Given the description of an element on the screen output the (x, y) to click on. 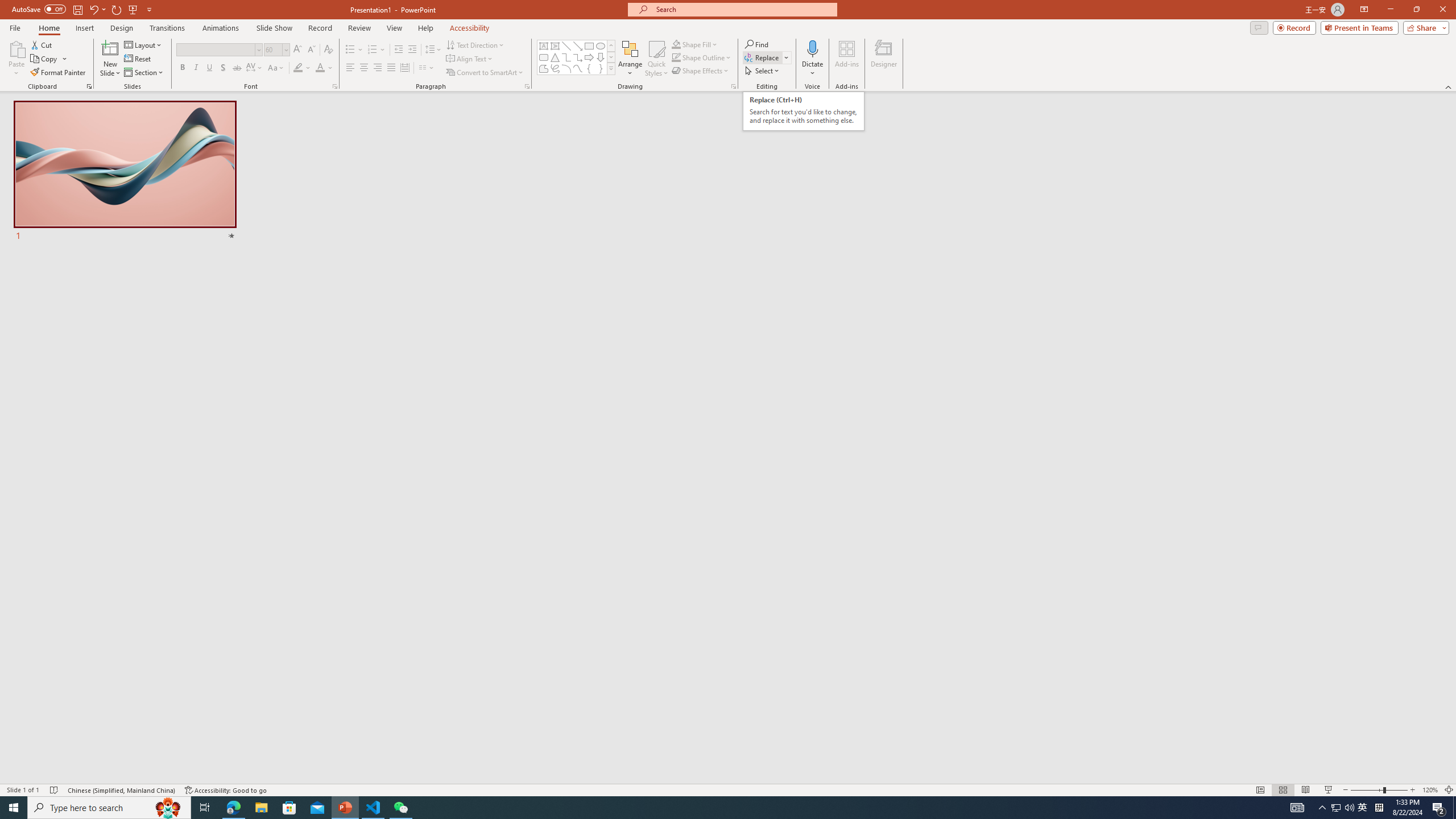
Zoom 120% (1430, 790)
